Given the description of an element on the screen output the (x, y) to click on. 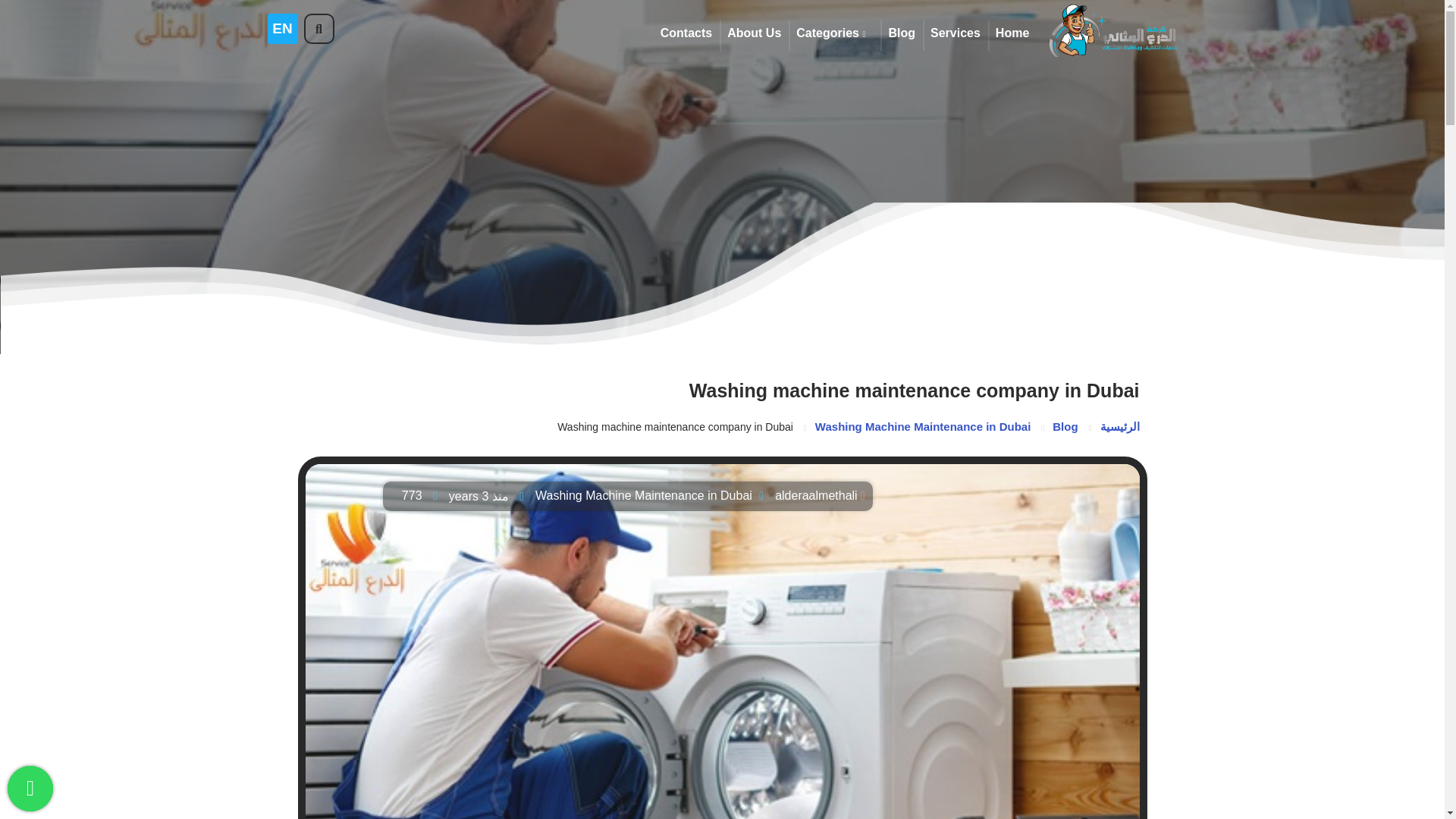
Ideal Shield Services Company (1112, 30)
EN (281, 28)
